Given the description of an element on the screen output the (x, y) to click on. 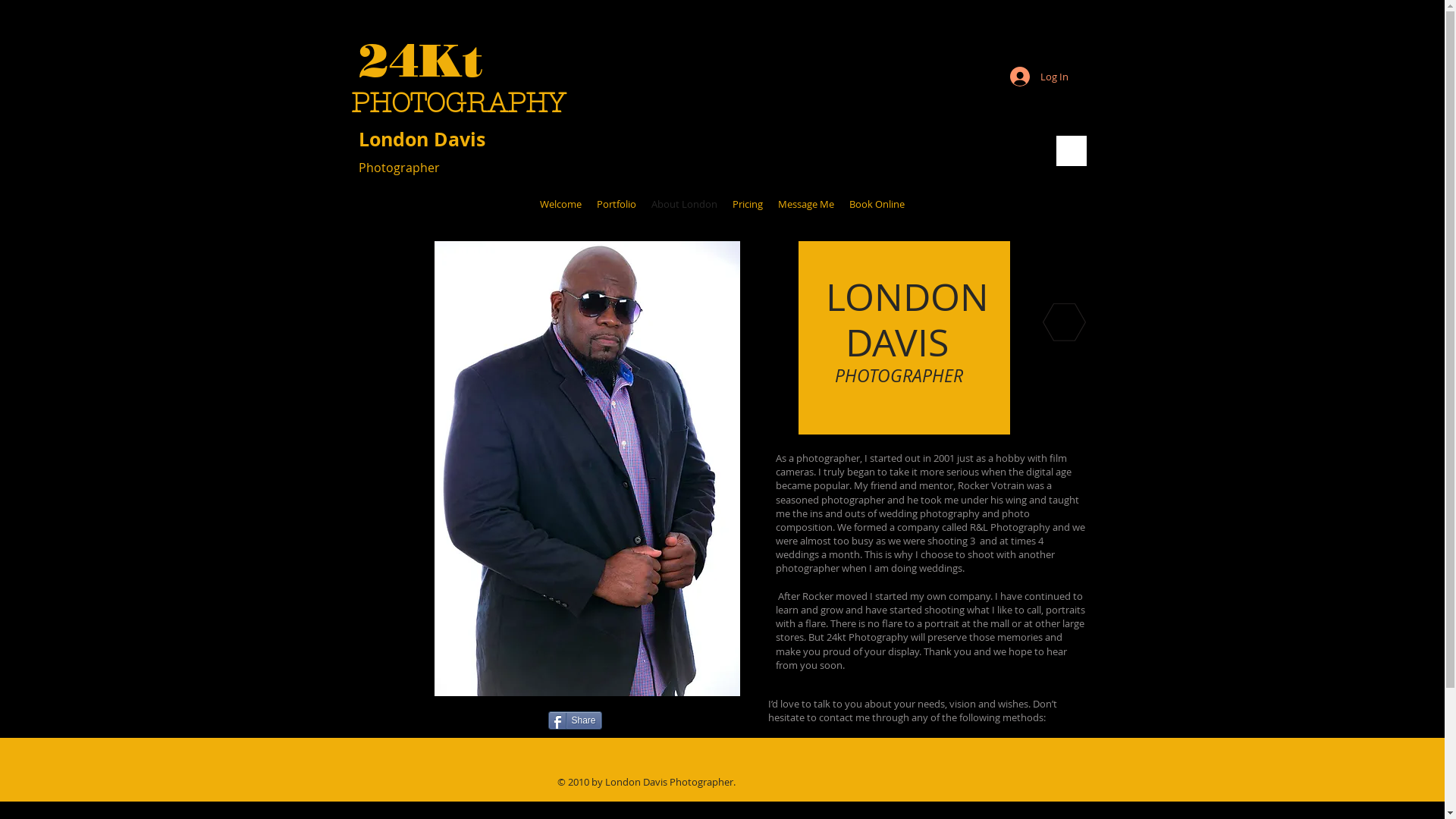
IMG_3926[1].jpg Element type: hover (586, 468)
Share Element type: text (574, 720)
Pricing Element type: text (747, 203)
Book Online Element type: text (876, 203)
Message Me Element type: text (805, 203)
Welcome Element type: text (560, 203)
Portfolio Element type: text (616, 203)
Log In Element type: text (1039, 76)
About London Element type: text (683, 203)
